Given the description of an element on the screen output the (x, y) to click on. 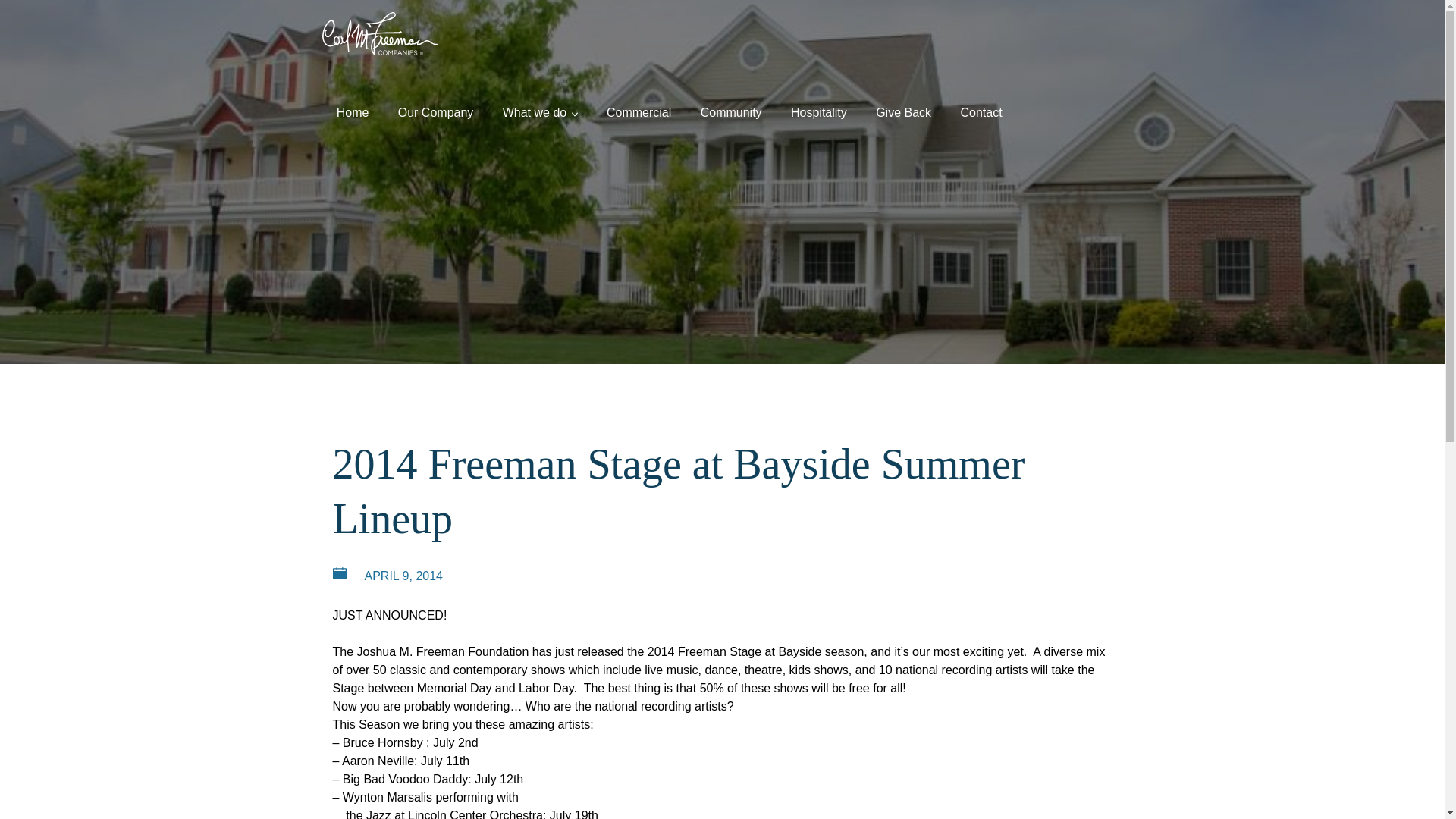
Hospitality (818, 100)
What we do (539, 100)
Carl M. Freeman Companies Home (378, 33)
Community (730, 100)
Home (351, 100)
Commercial (638, 100)
Give Back (902, 100)
Our Company (435, 100)
Contact (980, 100)
